Given the description of an element on the screen output the (x, y) to click on. 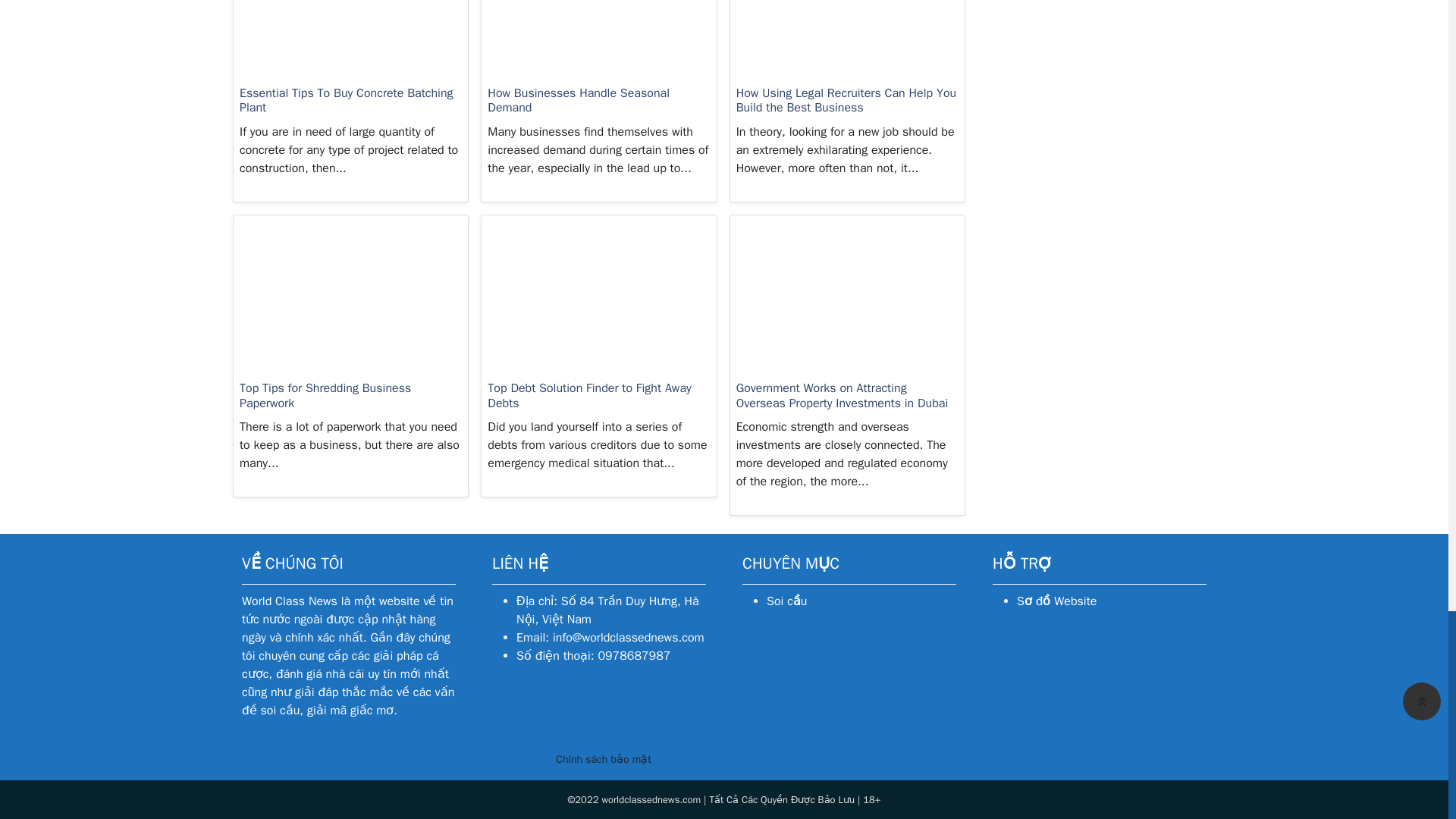
How Businesses Handle Seasonal Demand (598, 101)
Essential Tips To Buy Concrete Batching Plant (350, 6)
Top Tips for Shredding Business Paperwork (350, 300)
How Businesses Handle Seasonal Demand (598, 101)
Essential Tips To Buy Concrete Batching Plant (350, 101)
Essential Tips To Buy Concrete Batching Plant (350, 101)
Top Debt Solution Finder to Fight Away Debts (598, 396)
How Businesses Handle Seasonal Demand (598, 6)
Top Tips for Shredding Business Paperwork (350, 396)
